Given the description of an element on the screen output the (x, y) to click on. 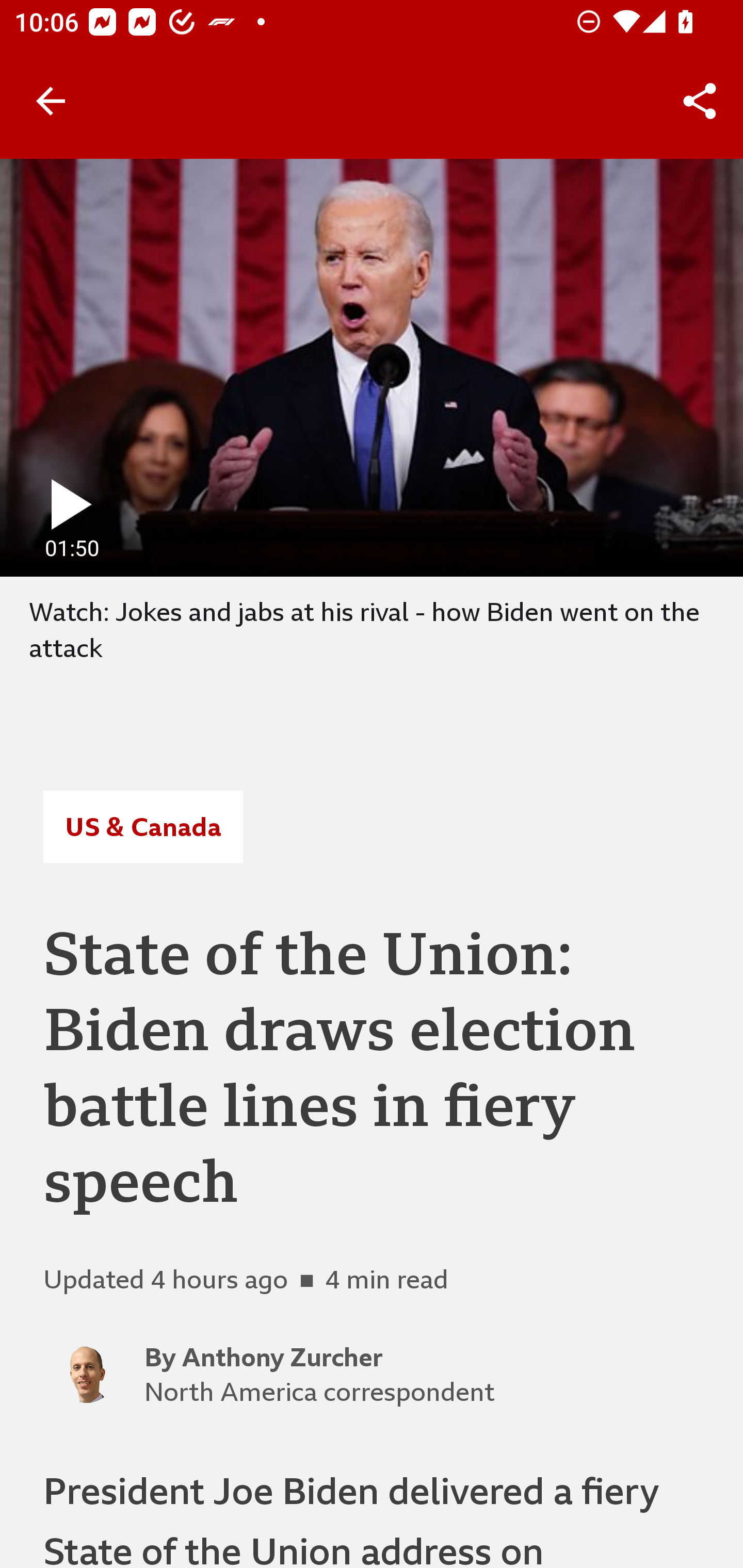
Back (50, 101)
Share (699, 101)
play fullscreen 01:50 1 minute, 50 seconds (371, 367)
US & Canada (142, 827)
